Given the description of an element on the screen output the (x, y) to click on. 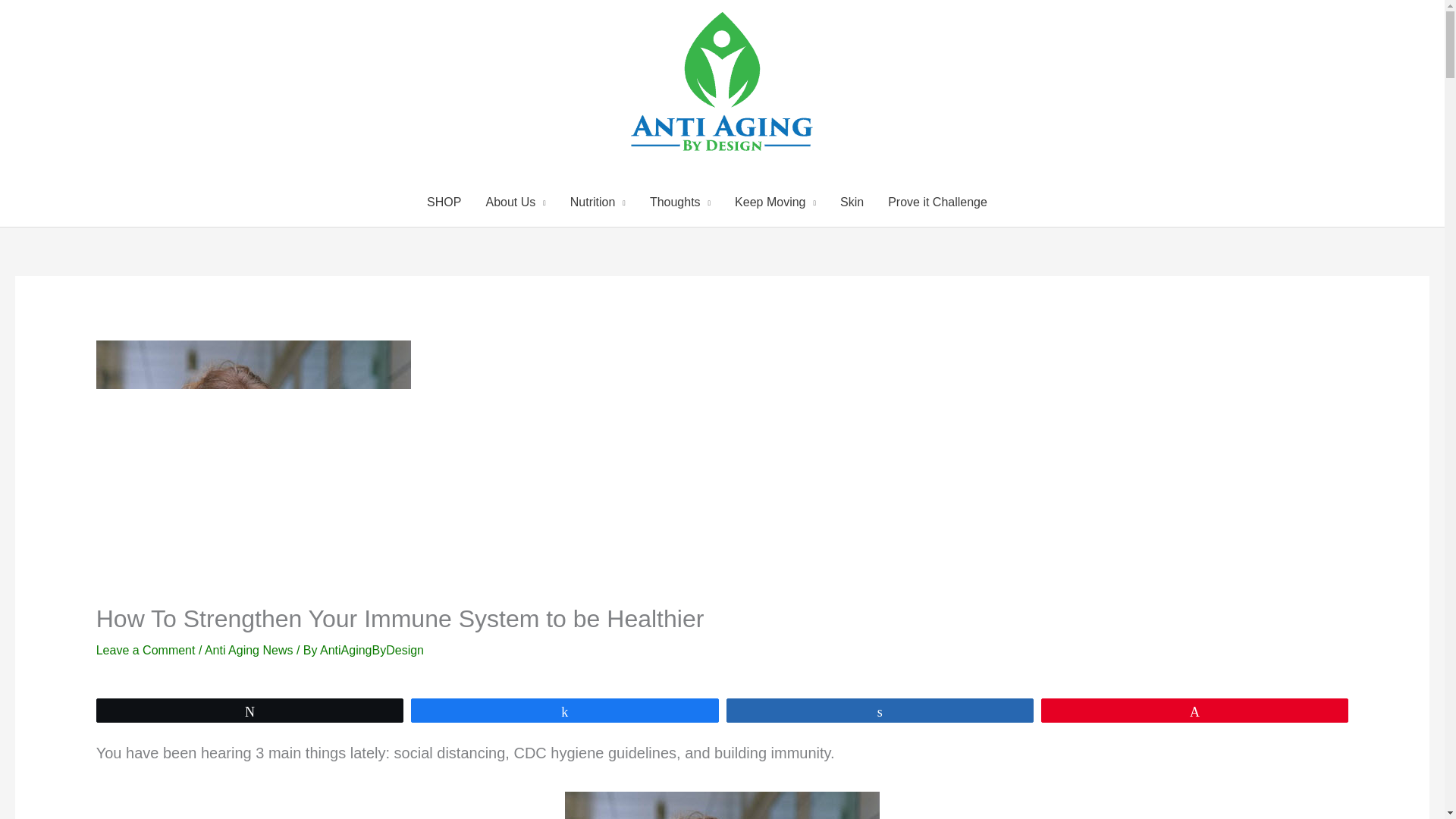
Leave a Comment (145, 649)
View all posts by AntiAgingByDesign (371, 649)
Keep Moving (775, 202)
SHOP (443, 202)
About Us (515, 202)
Thoughts (679, 202)
Anti Aging News (249, 649)
Prove it Challenge (937, 202)
AntiAgingByDesign (371, 649)
Skin (852, 202)
